Given the description of an element on the screen output the (x, y) to click on. 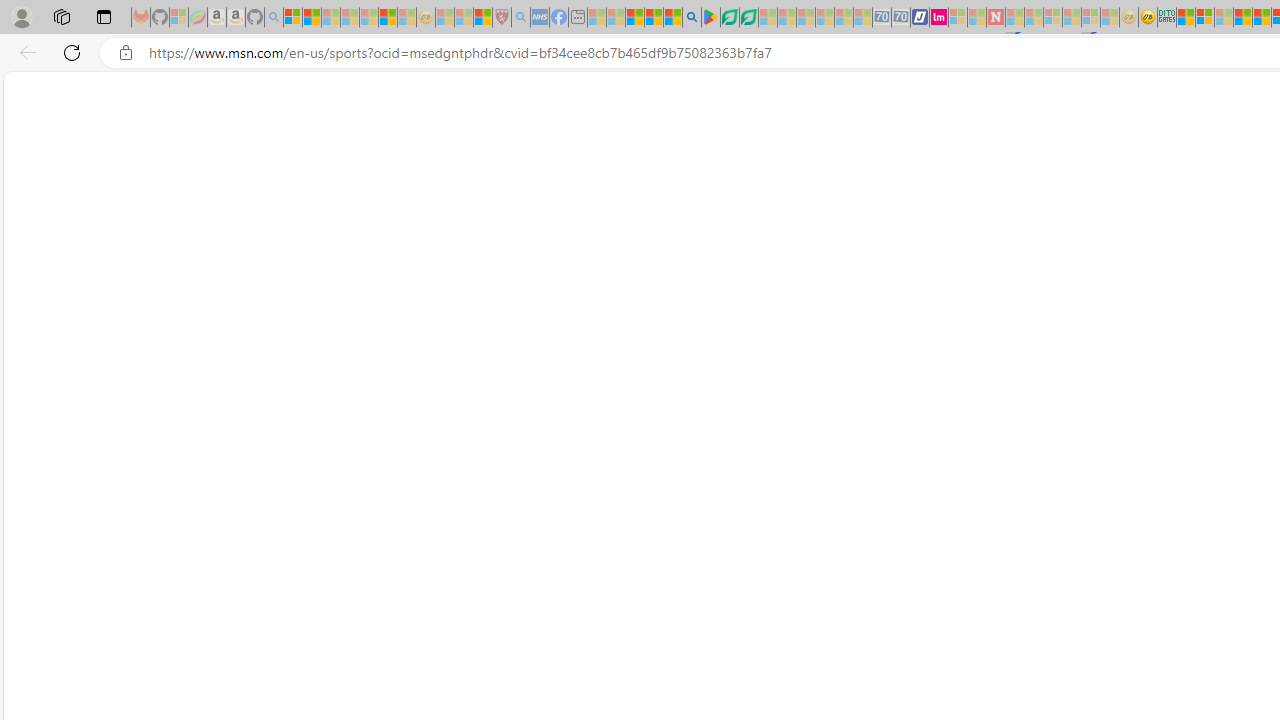
Pets - MSN (654, 17)
